Given the description of an element on the screen output the (x, y) to click on. 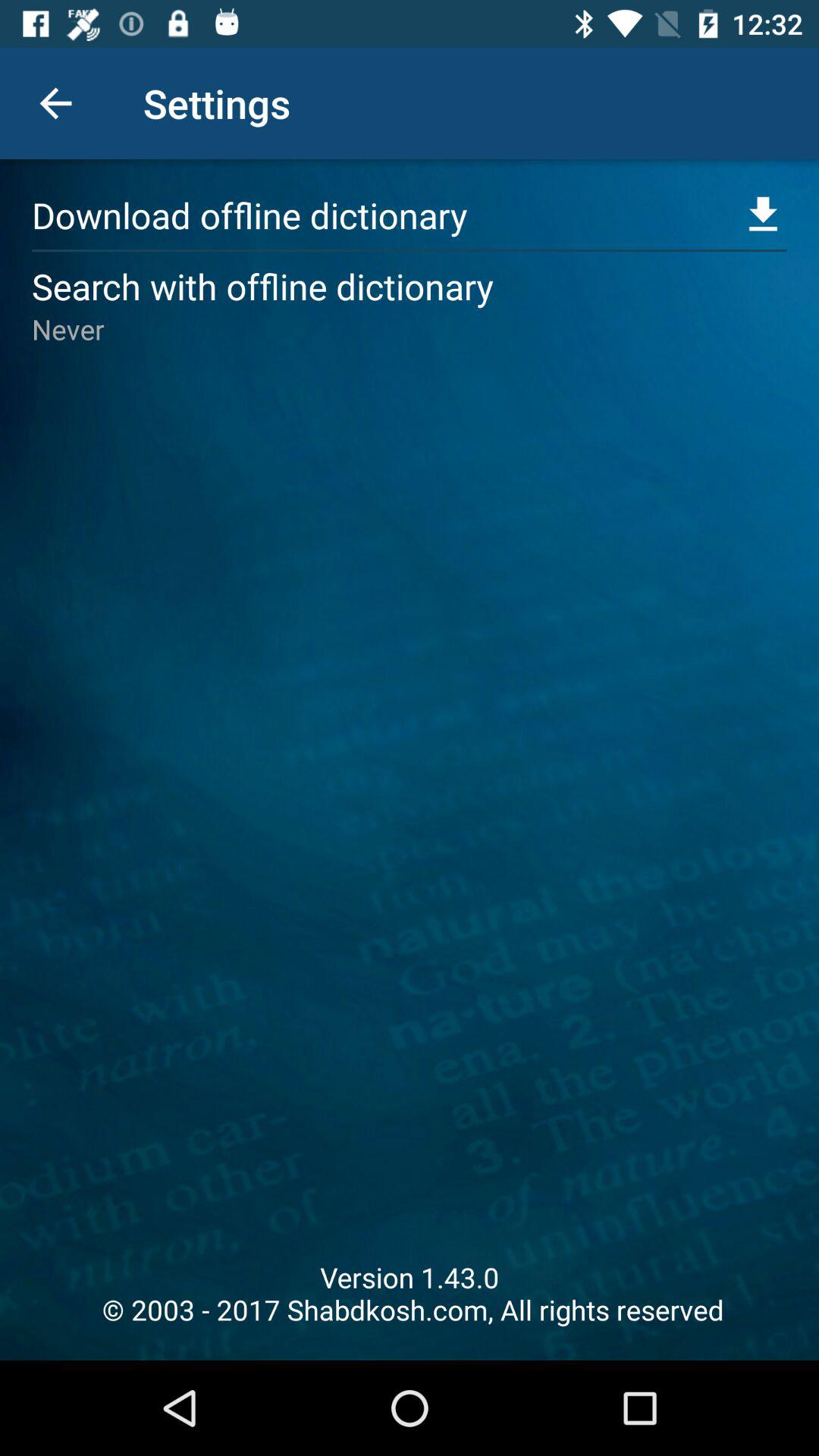
expand this menu (763, 214)
